Given the description of an element on the screen output the (x, y) to click on. 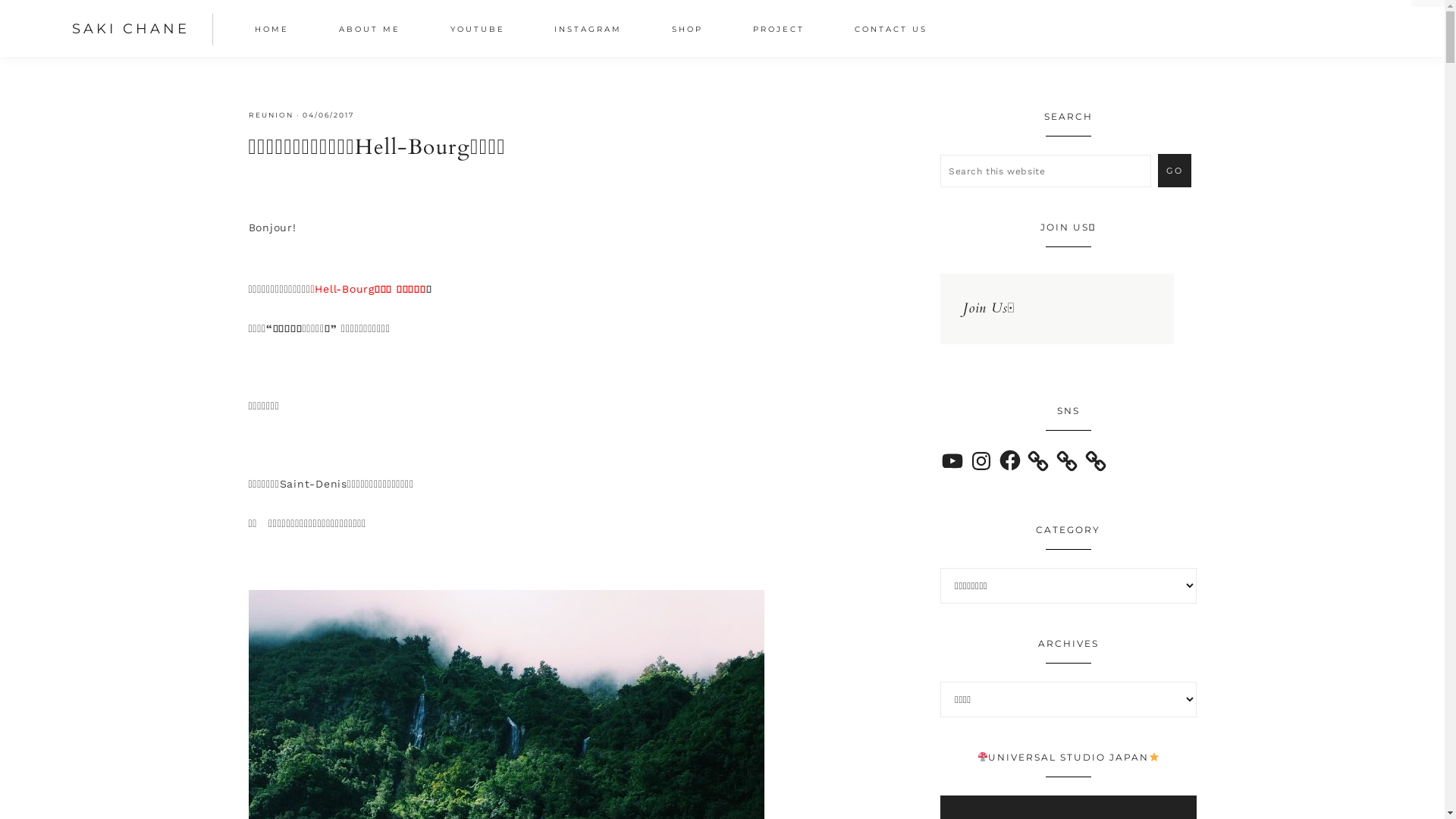
INSTAGRAM Element type: text (587, 31)
SAKI CHANE Element type: text (130, 28)
GO Element type: text (1174, 170)
ABOUT ME Element type: text (369, 31)
PROJECT Element type: text (778, 31)
YOUTUBE Element type: text (477, 31)
REUNION Element type: text (270, 114)
SHOP Element type: text (687, 31)
CONTACT US Element type: text (890, 31)
HOME Element type: text (271, 31)
